Given the description of an element on the screen output the (x, y) to click on. 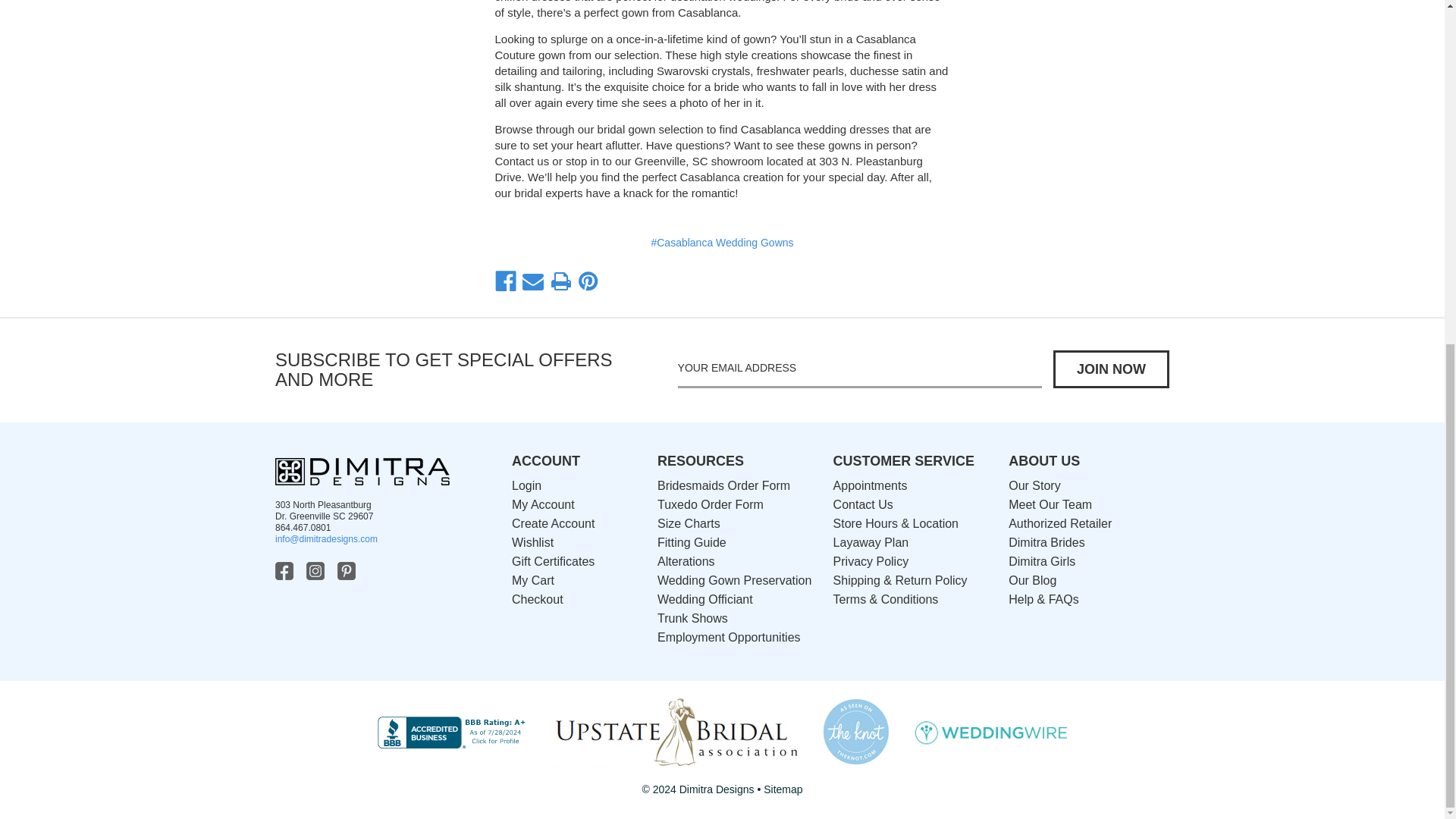
Pinterest (588, 281)
Instagram (316, 570)
Pinterest (347, 570)
Facebook (286, 570)
Join NOw (1110, 369)
Facebook (505, 281)
TikTok (379, 570)
DIMITRA DESIGNS (362, 471)
Email (532, 281)
Print (561, 281)
